Given the description of an element on the screen output the (x, y) to click on. 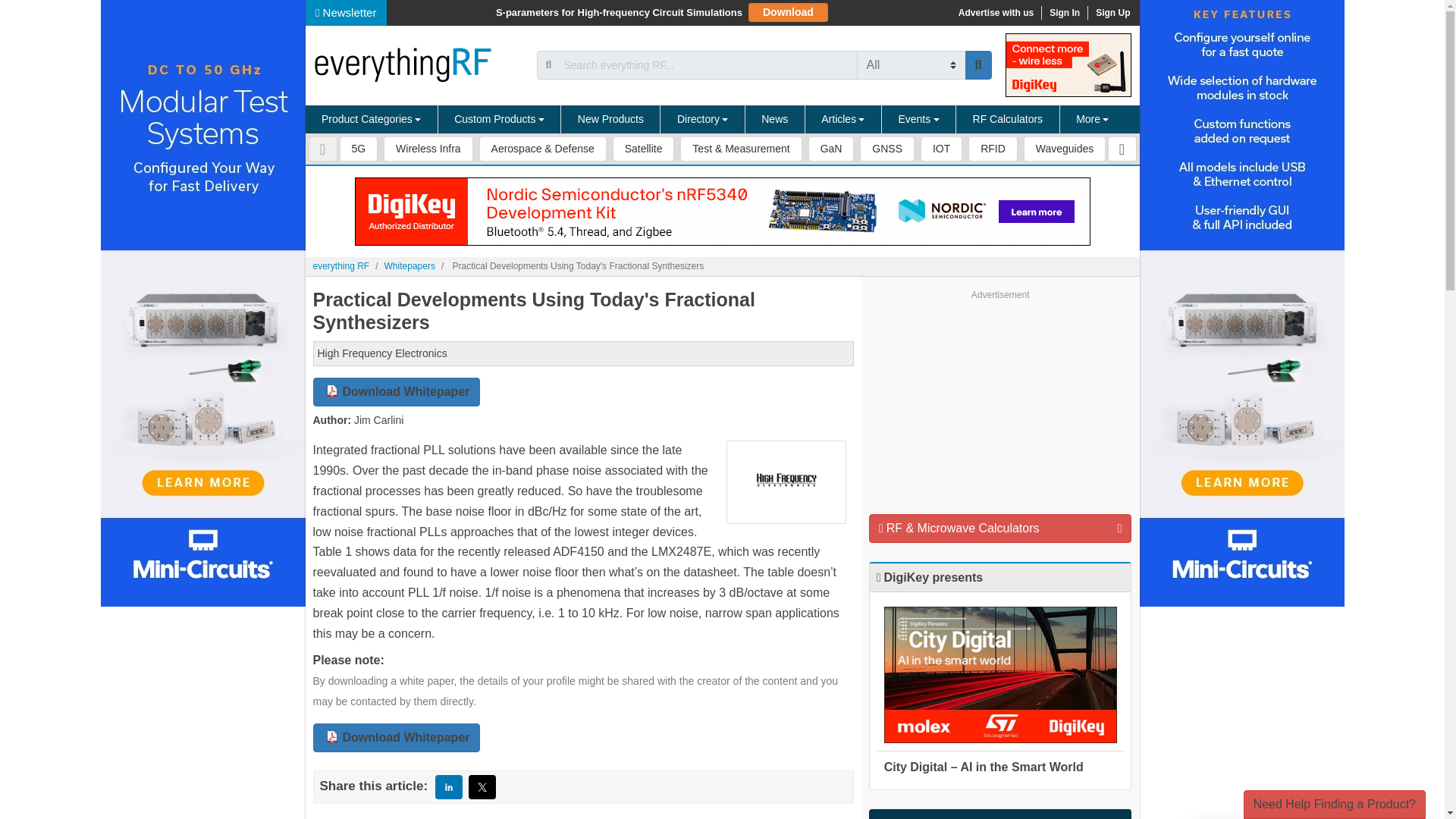
S-parameters for High-frequency Circuit Simulations (619, 12)
Download (788, 12)
Newsletter (345, 12)
Sign Up (1112, 12)
Sign In (1064, 12)
Advertise with us (995, 12)
Product Categories (371, 119)
